Given the description of an element on the screen output the (x, y) to click on. 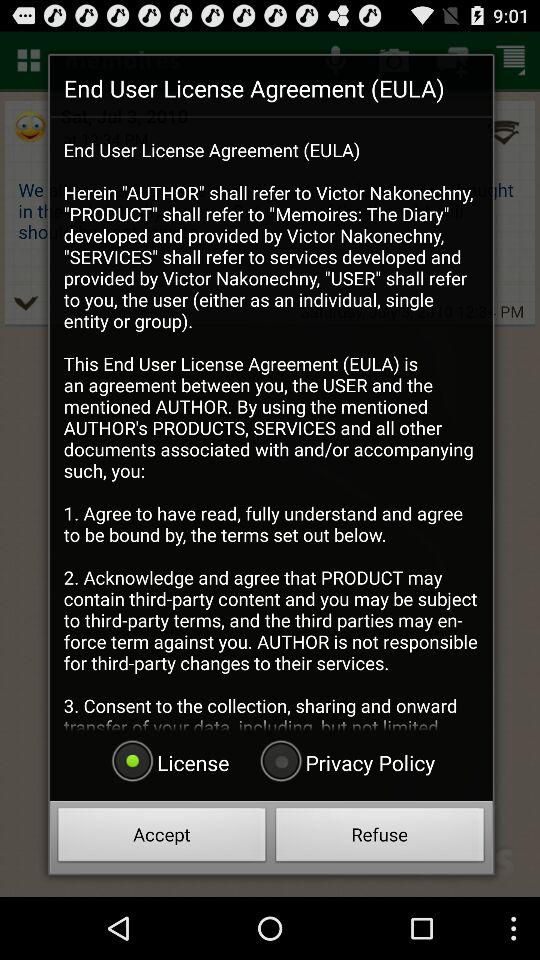
open the refuse (380, 837)
